Given the description of an element on the screen output the (x, y) to click on. 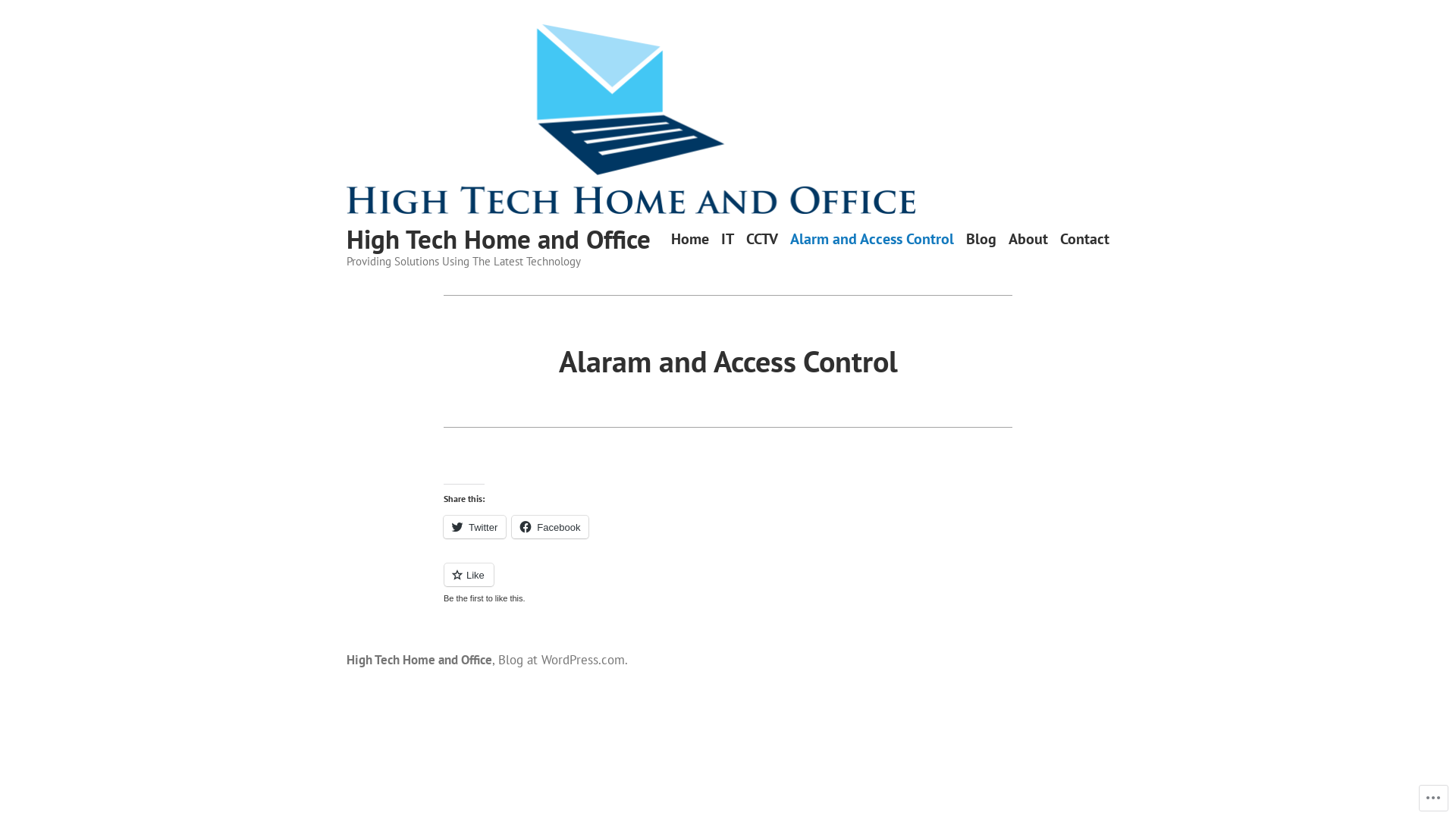
IT Element type: text (727, 238)
CCTV Element type: text (762, 238)
About Element type: text (1028, 238)
Like or Reblog Element type: hover (727, 583)
Facebook Element type: text (549, 526)
Blog at WordPress.com. Element type: text (562, 659)
Twitter Element type: text (474, 526)
High Tech Home and Office Element type: text (419, 659)
Alarm and Access Control Element type: text (871, 238)
Contact Element type: text (1084, 238)
High Tech Home and Office Element type: text (498, 238)
Blog Element type: text (981, 238)
Home Element type: text (690, 238)
